Given the description of an element on the screen output the (x, y) to click on. 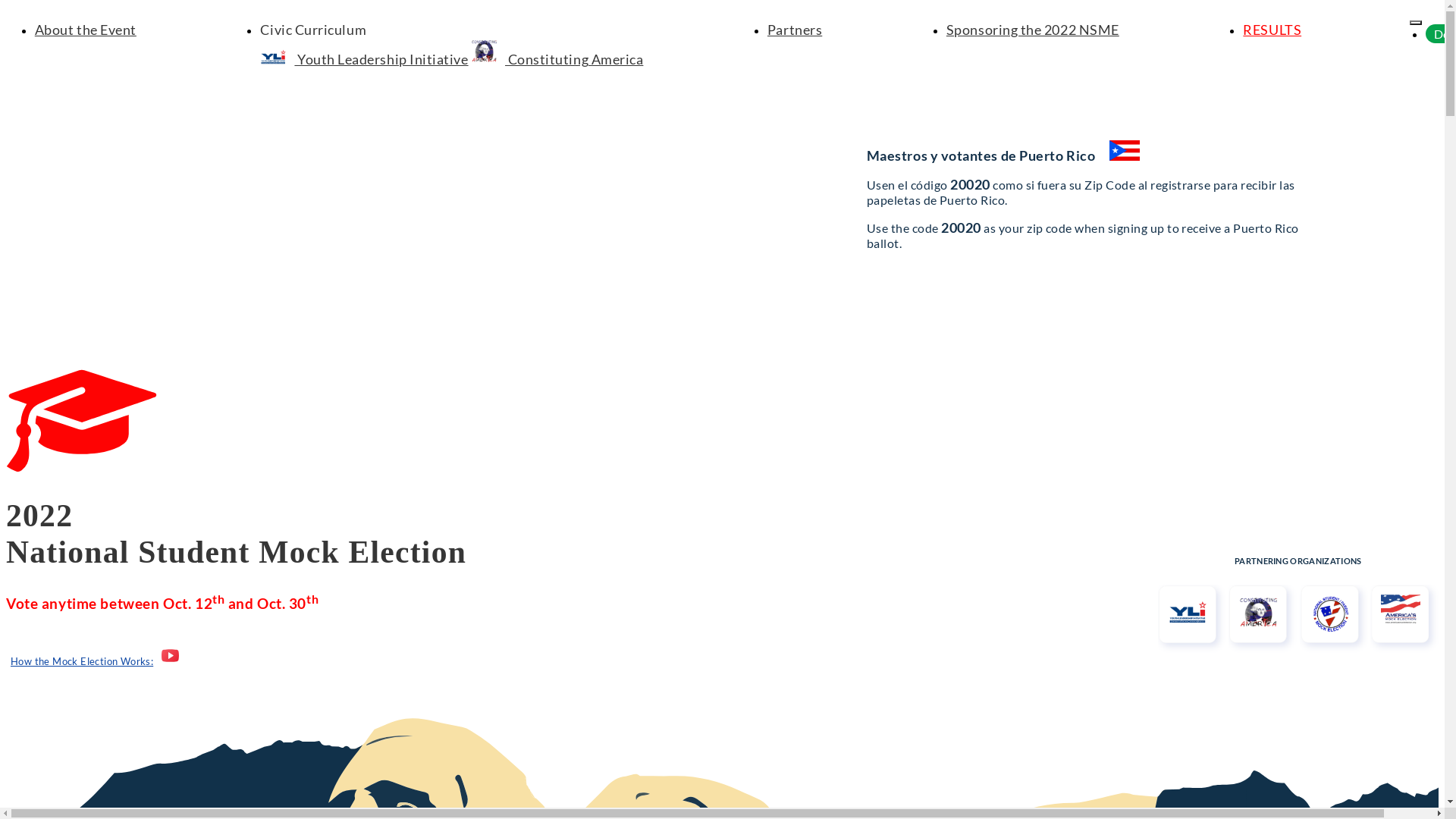
RESULTS Element type: text (1271, 29)
Constituting America Element type: text (556, 58)
Sponsoring the 2022 NSME Element type: text (1032, 29)
Partners Element type: text (794, 29)
Civic Curriculum Element type: text (313, 29)
Youth Leadership Initiative Element type: text (363, 58)
About the Event Element type: text (85, 29)
